Given the description of an element on the screen output the (x, y) to click on. 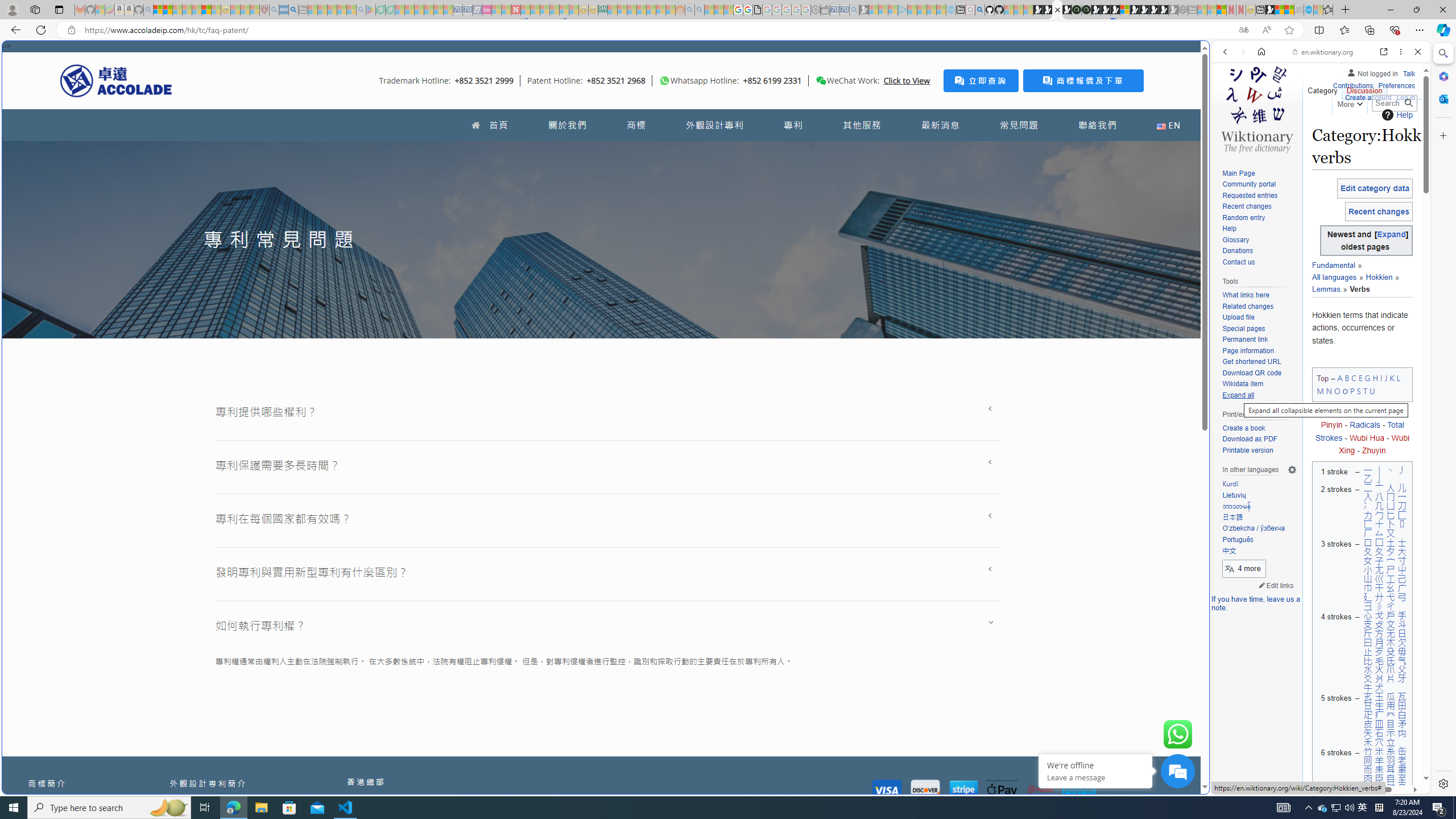
Edit category data (1374, 188)
Zhuyin (1373, 450)
Discussion (1363, 87)
Random entry (1243, 216)
Upload file (1238, 317)
Create account (1367, 96)
